Given the description of an element on the screen output the (x, y) to click on. 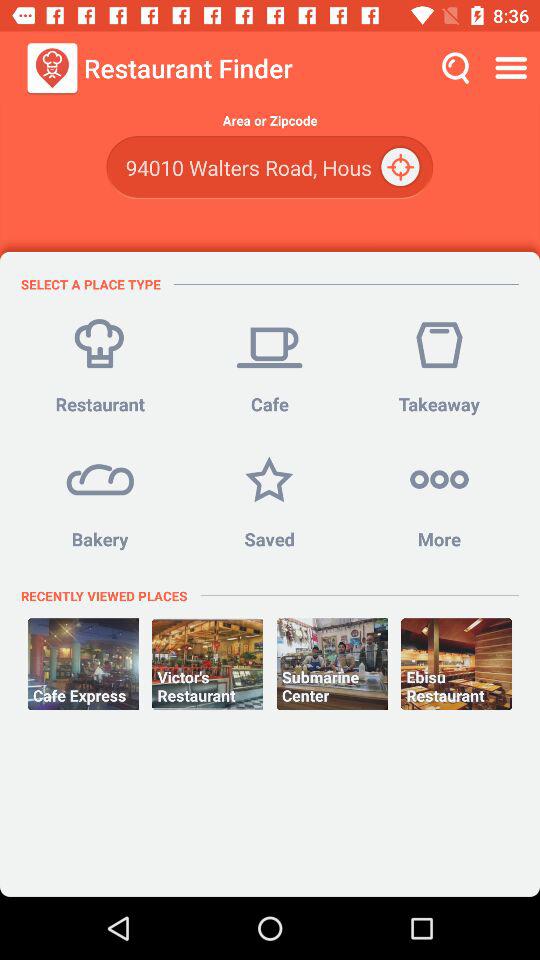
choose icon above the area or zipcode item (513, 67)
